Given the description of an element on the screen output the (x, y) to click on. 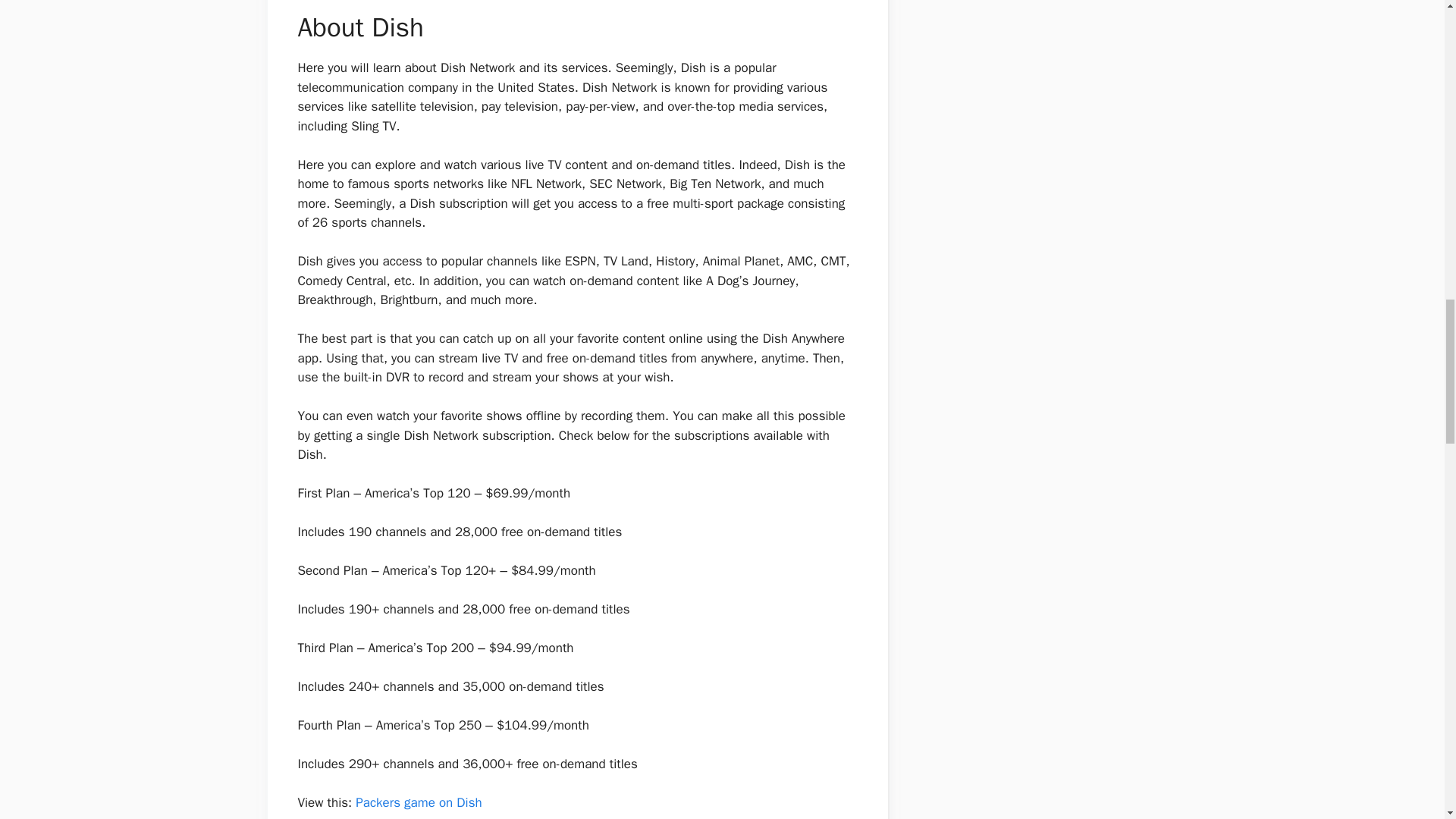
Packers game on Dish (418, 802)
